Given the description of an element on the screen output the (x, y) to click on. 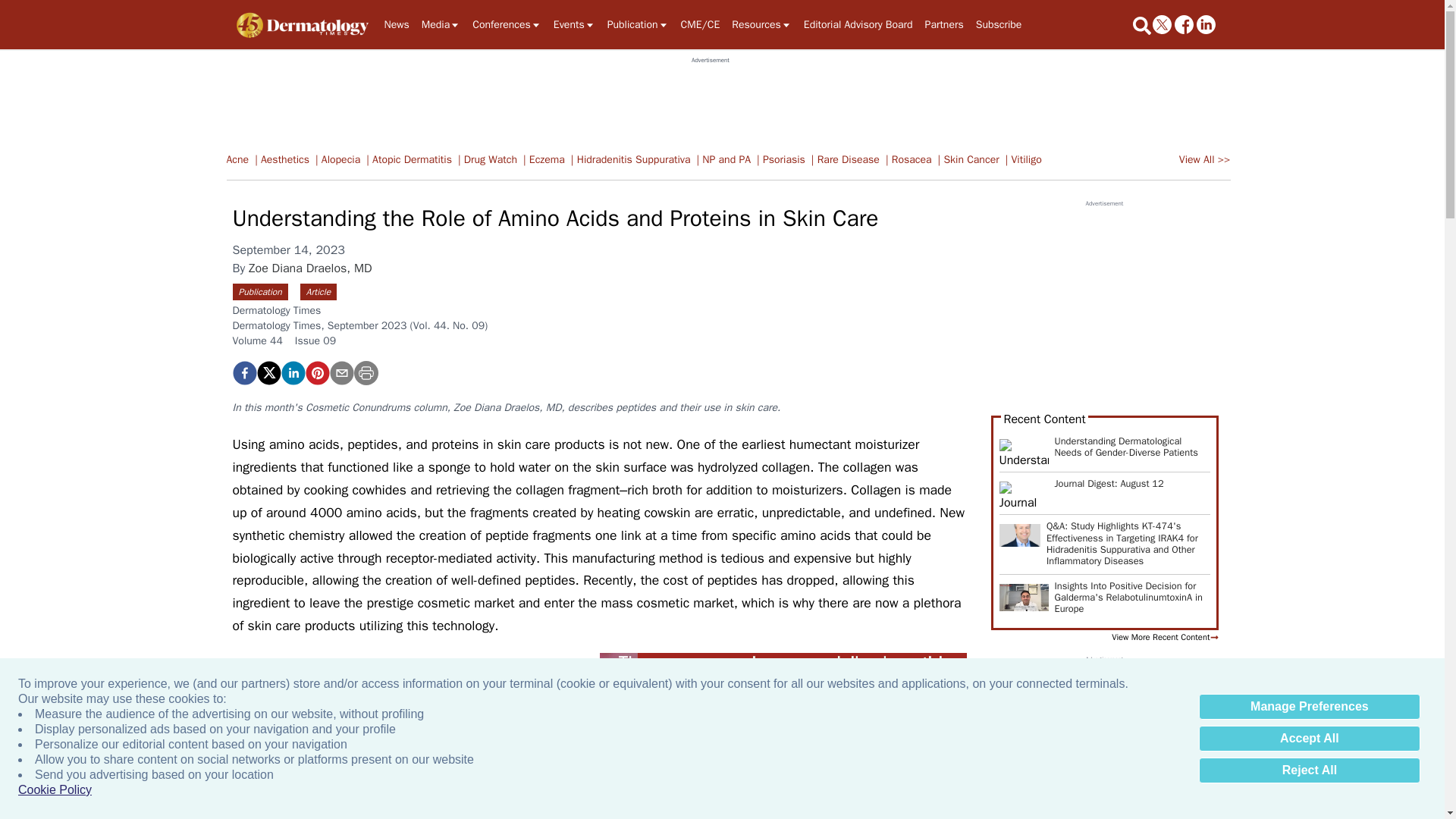
News (396, 23)
Accept All (1309, 738)
Manage Preferences (1309, 706)
3rd party ad content (709, 98)
Reject All (1309, 769)
Editorial Advisory Board (857, 23)
Cookie Policy (54, 789)
